Given the description of an element on the screen output the (x, y) to click on. 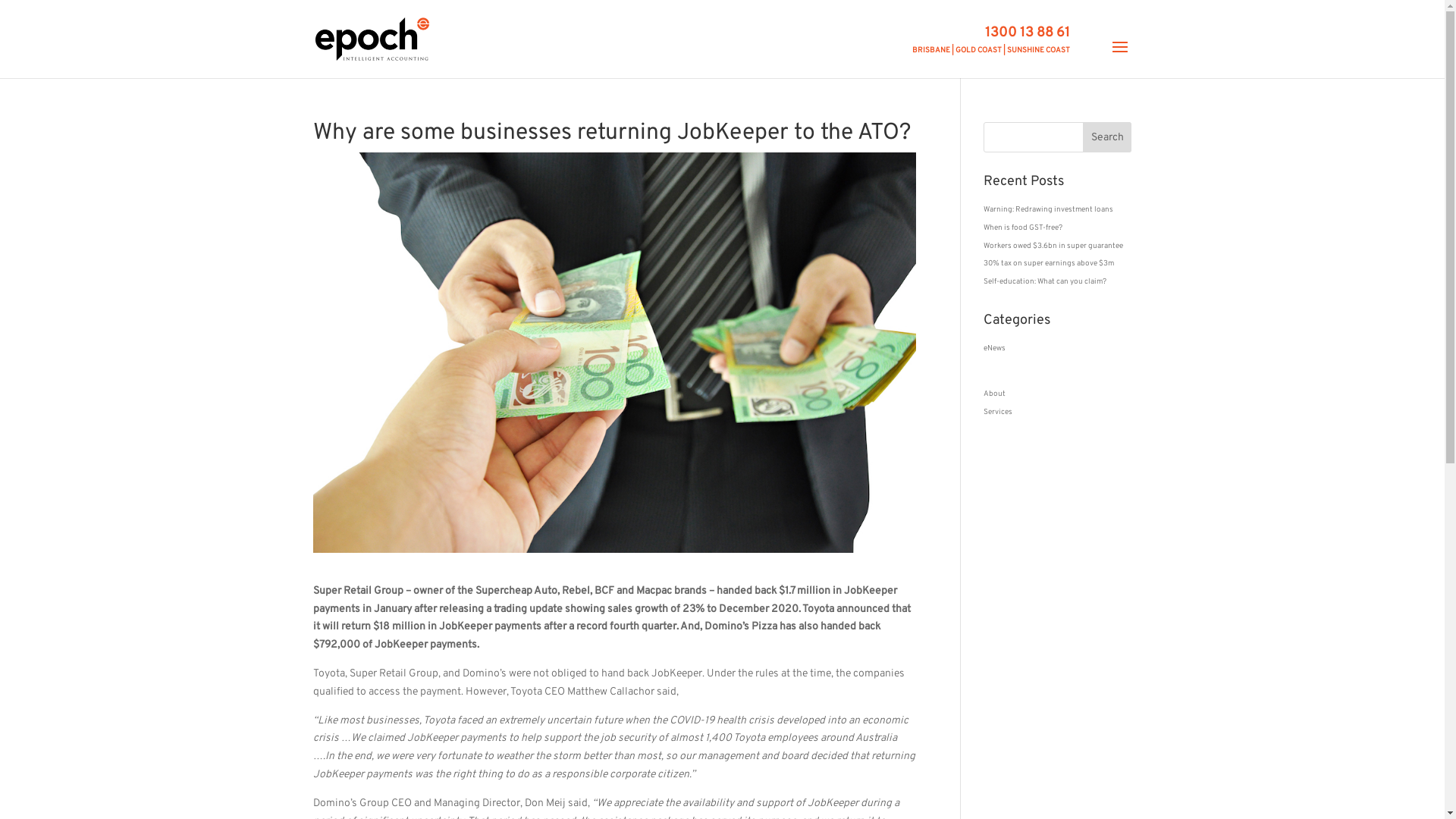
About Element type: text (994, 393)
When is food GST-free?    Element type: text (1024, 227)
Services Element type: text (997, 412)
Workers owed $3.6bn in super guarantee   Element type: text (1054, 246)
eNews Element type: text (994, 348)
Search Element type: text (1107, 137)
1300 13 88 61 Element type: text (1026, 32)
Self-education: What can you claim? Element type: text (1044, 281)
Warning: Redrawing investment loans Element type: text (1048, 209)
30% tax on super earnings above $3m Element type: text (1048, 263)
